Given the description of an element on the screen output the (x, y) to click on. 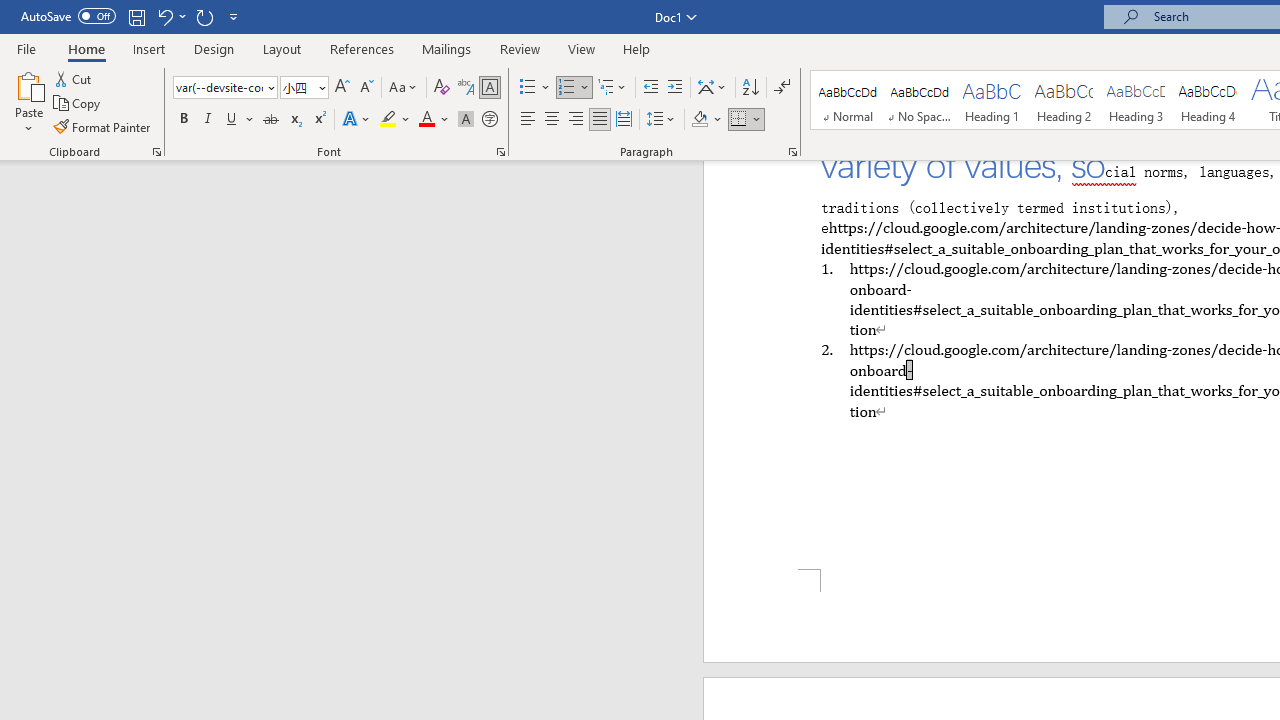
Center (552, 119)
Increase Indent (675, 87)
Sort... (750, 87)
Phonetic Guide... (465, 87)
Change Case (404, 87)
Review (520, 48)
Align Left (527, 119)
System (10, 11)
Font Color (434, 119)
Font (218, 87)
Line and Paragraph Spacing (661, 119)
Open (320, 87)
Italic (207, 119)
View (582, 48)
Repeat Paragraph Alignment (204, 15)
